Given the description of an element on the screen output the (x, y) to click on. 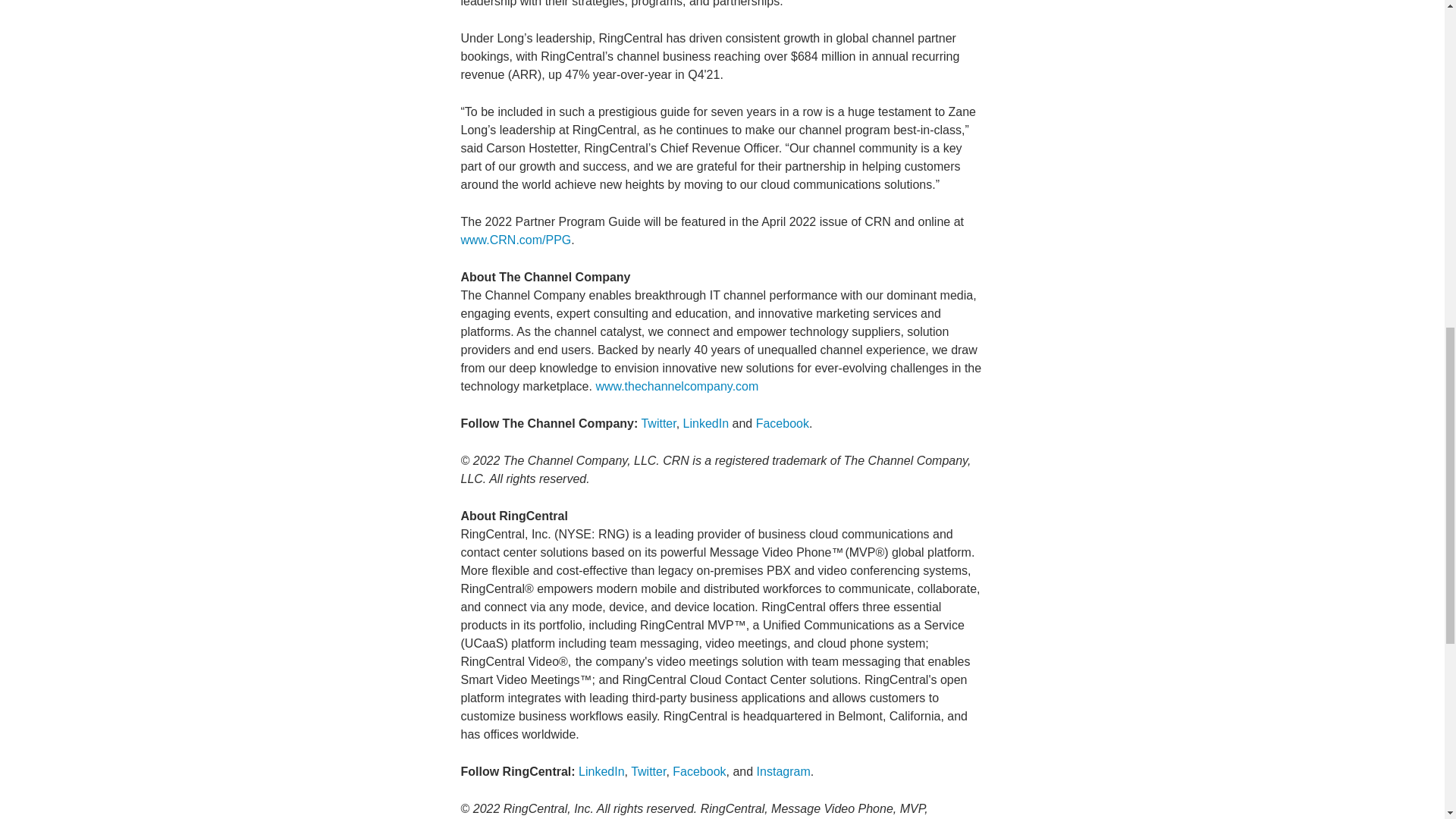
Twitter (657, 422)
Facebook (698, 771)
www.thechannelcompany.com (676, 386)
Facebook (782, 422)
LinkedIn (601, 771)
Twitter (647, 771)
LinkedIn (705, 422)
Instagram (783, 771)
